Given the description of an element on the screen output the (x, y) to click on. 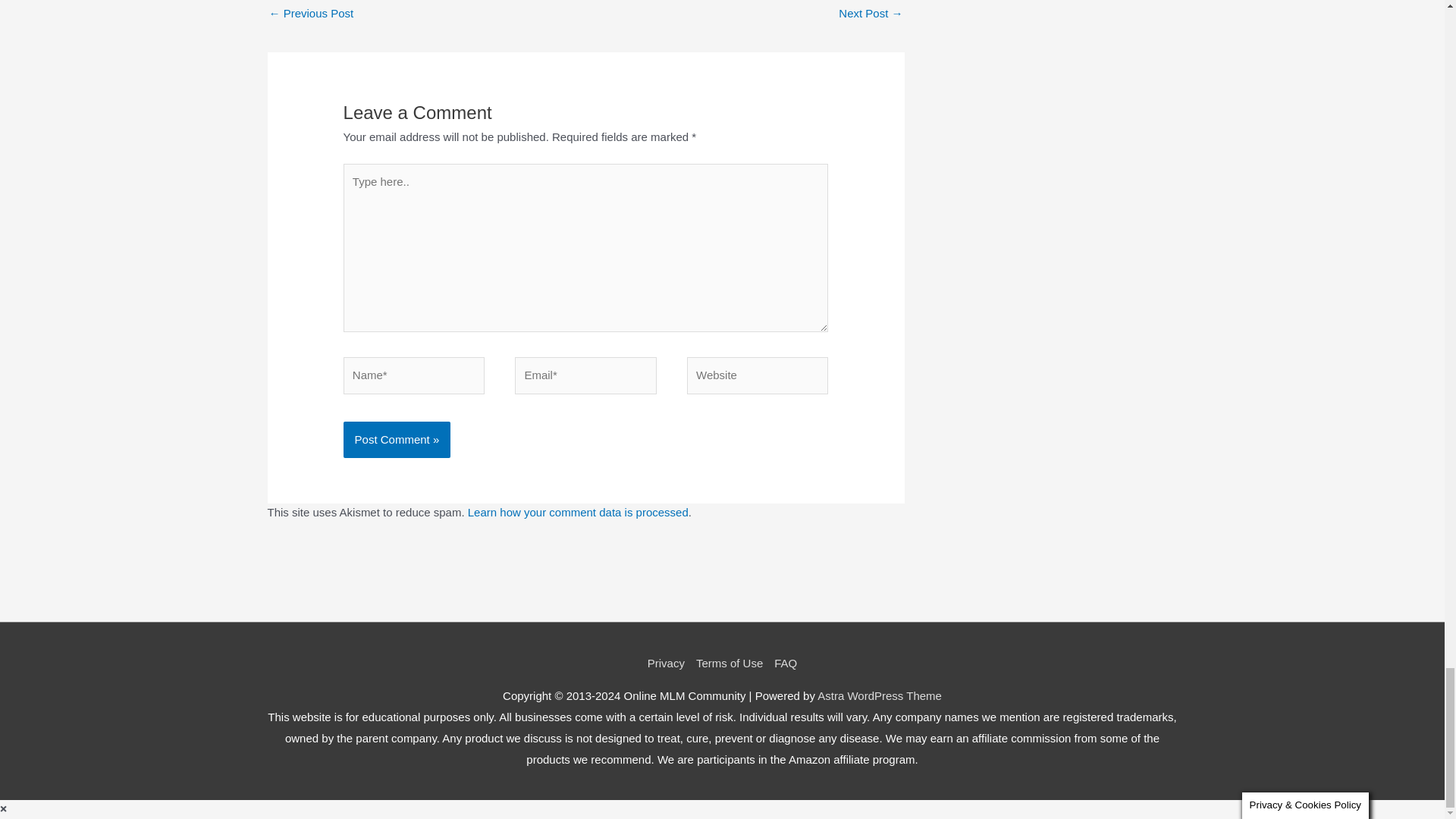
Top 19 MLM Tidbits (310, 14)
Your MLM Bonus Check: 6 Things You Could Do with It (870, 14)
